Given the description of an element on the screen output the (x, y) to click on. 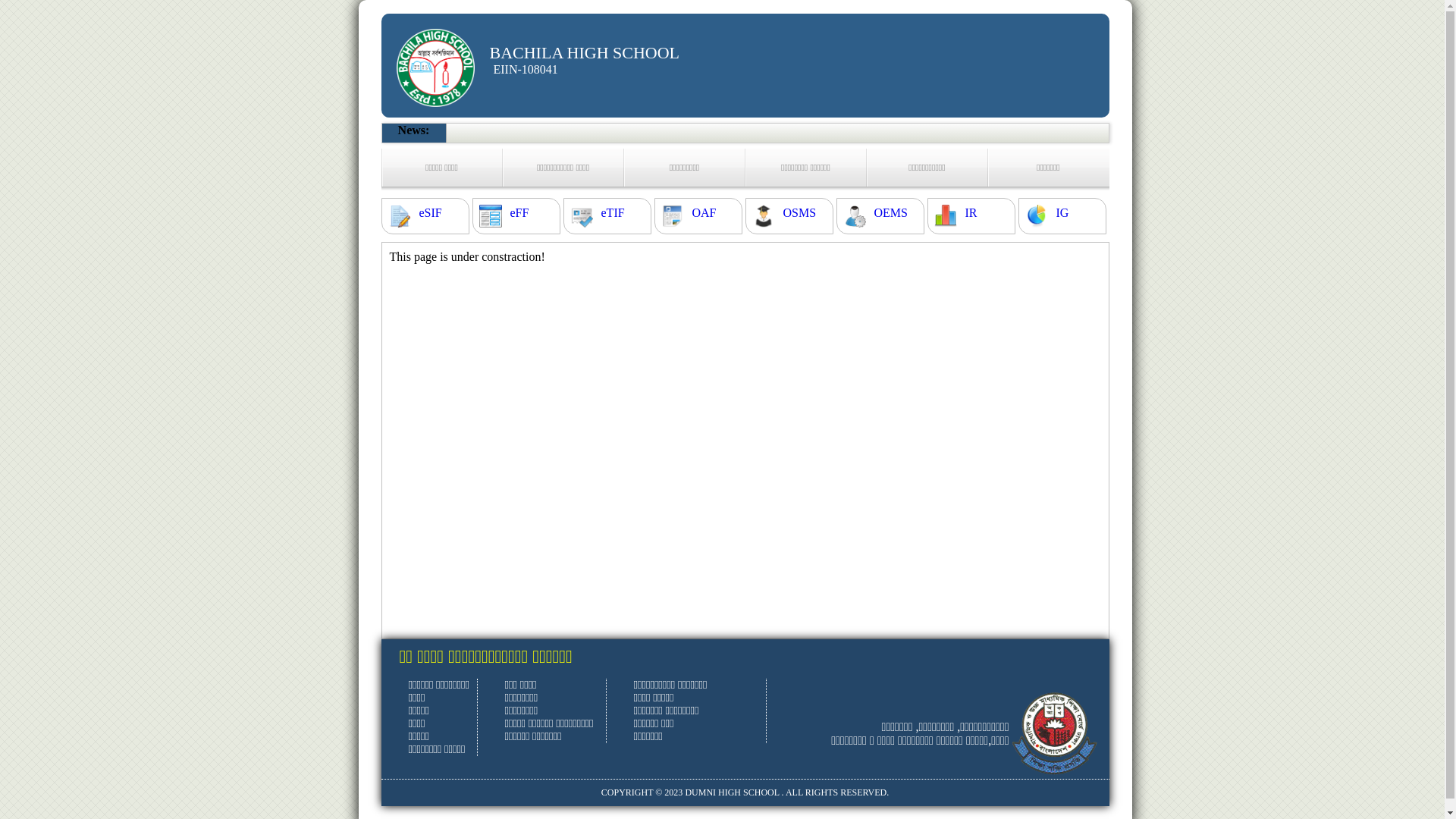
eFF Element type: text (518, 212)
IG Element type: text (1061, 212)
OEMS Element type: text (889, 212)
IR Element type: text (970, 212)
eTIF Element type: text (612, 212)
eSIF Element type: text (429, 212)
OSMS Element type: text (798, 212)
OAF Element type: text (703, 212)
DUMNI HIGH SCHOOL Element type: text (731, 792)
